Given the description of an element on the screen output the (x, y) to click on. 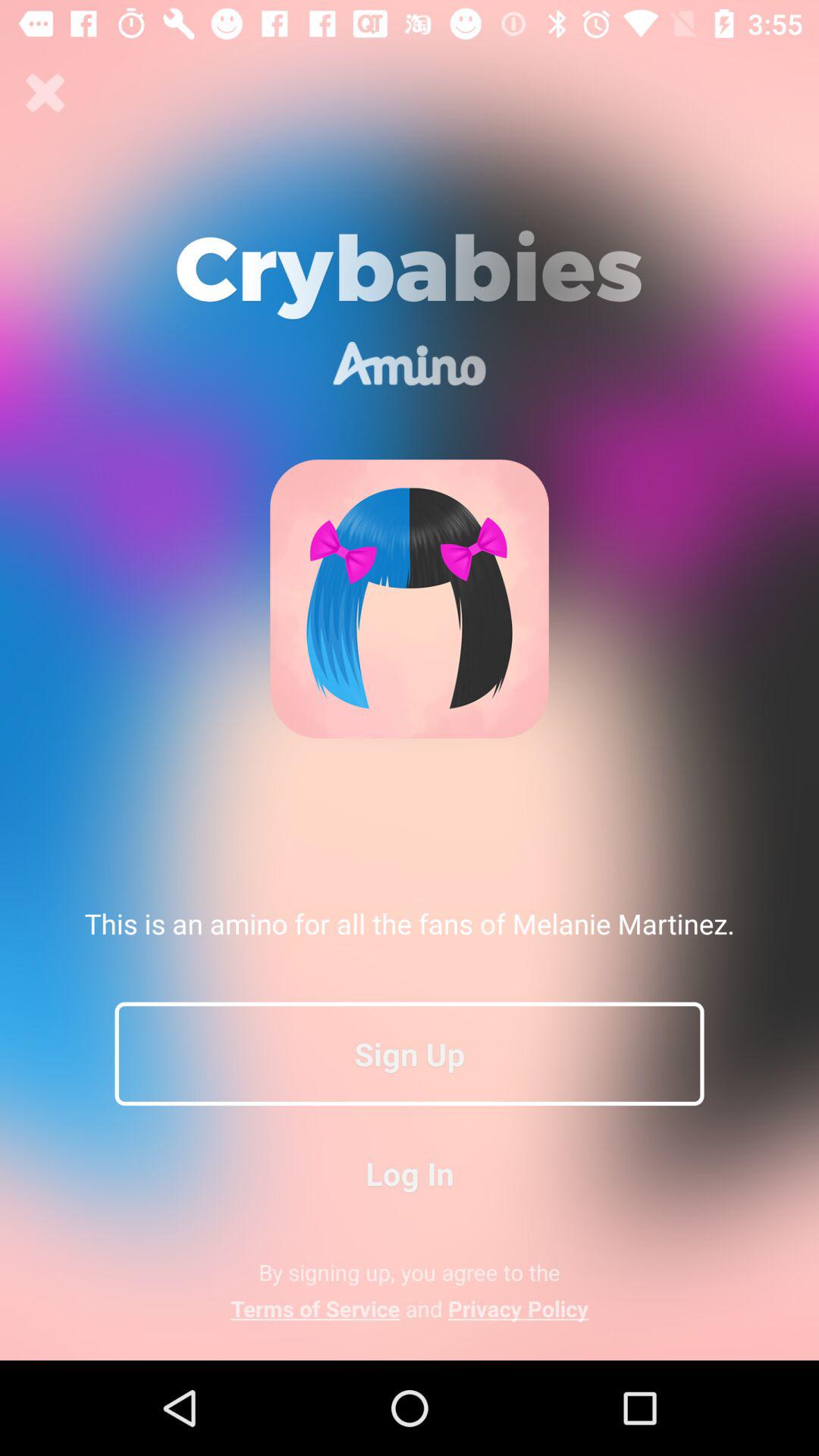
tap the item above the by signing up app (409, 1173)
